Given the description of an element on the screen output the (x, y) to click on. 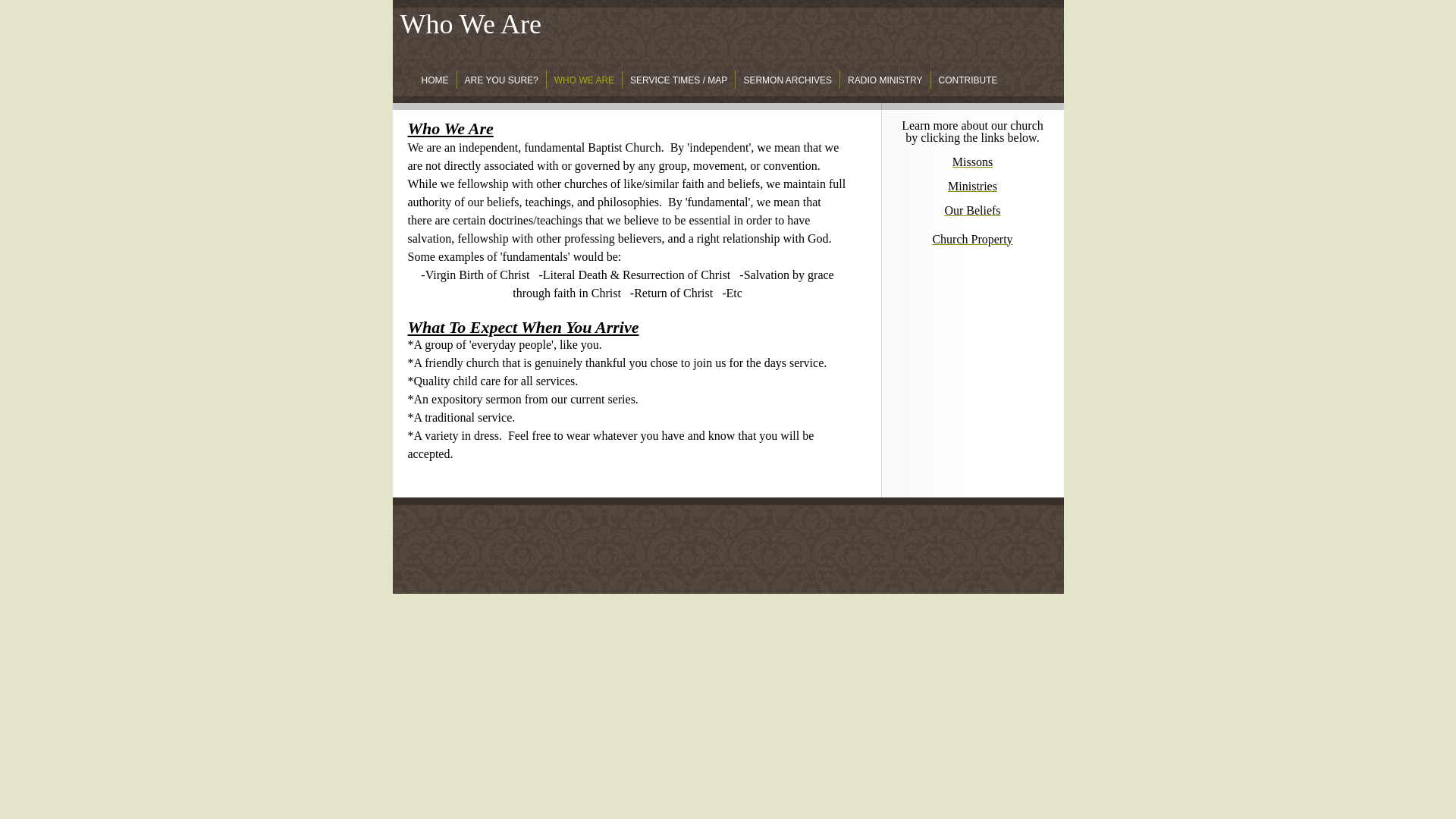
SERMON ARCHIVES (786, 79)
Are You Sure? (501, 79)
Sermon Archives (786, 79)
Radio Ministry (884, 79)
RADIO MINISTRY (884, 79)
Our Beliefs (971, 210)
WHO WE ARE (584, 79)
Ministries (972, 185)
CONTRIBUTE (968, 79)
Contribute (968, 79)
Who We Are (584, 79)
ARE YOU SURE? (501, 79)
HOME (435, 79)
Home (435, 79)
Missons (972, 161)
